Given the description of an element on the screen output the (x, y) to click on. 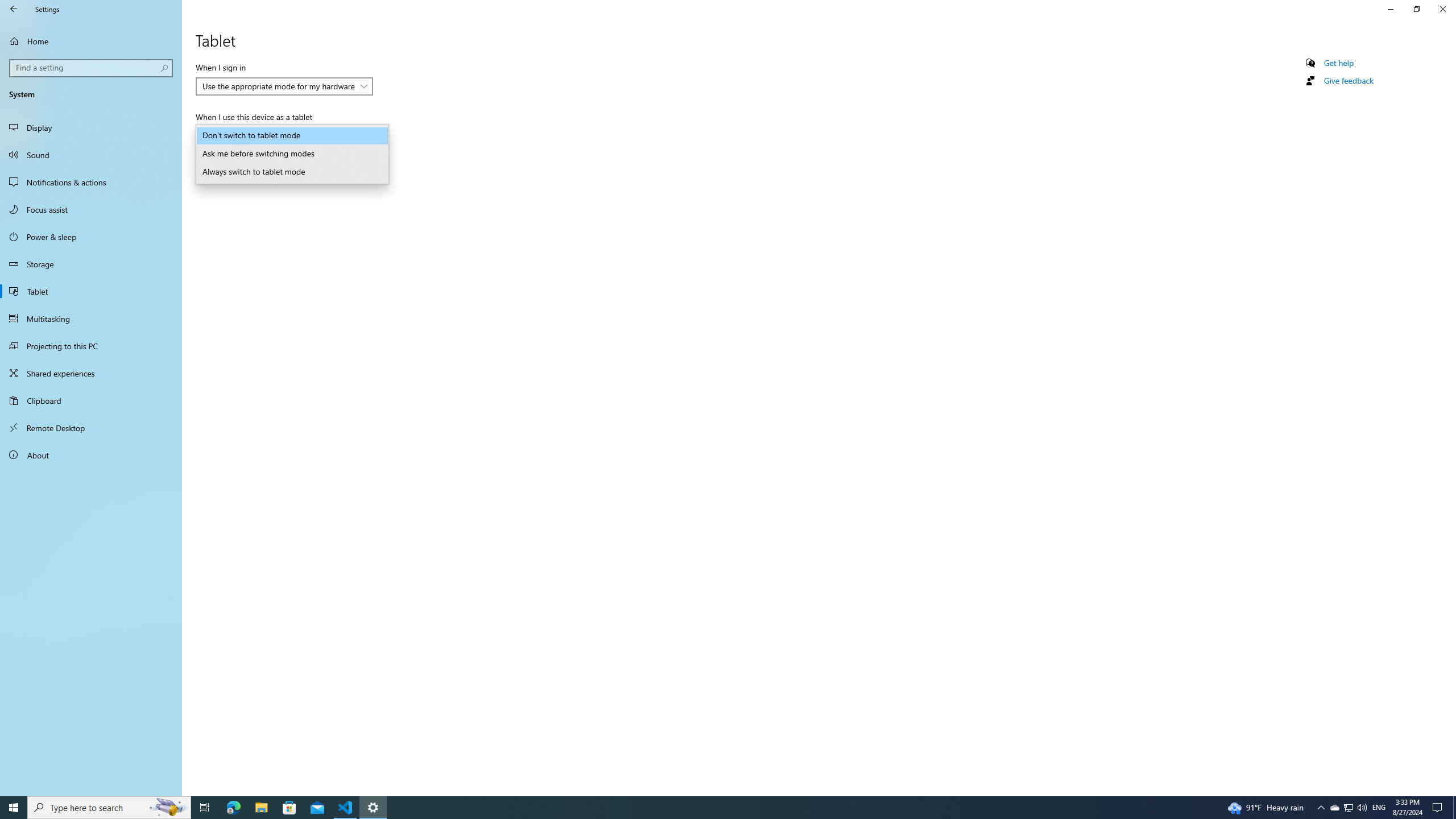
Minimize Settings (1390, 9)
Power & sleep (91, 236)
Action Center, No new notifications (1439, 807)
Microsoft Store (289, 807)
